Given the description of an element on the screen output the (x, y) to click on. 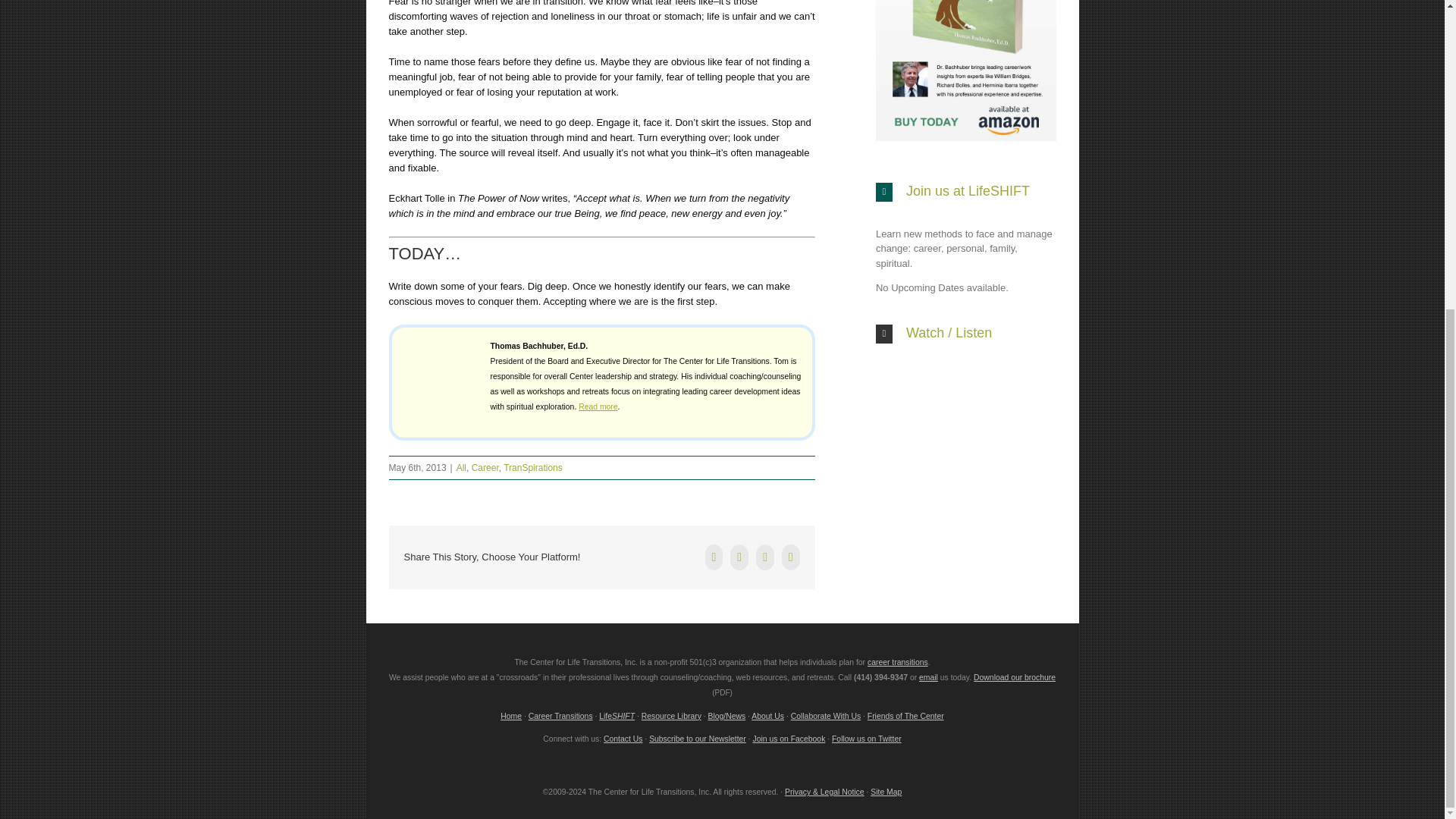
facebook (713, 557)
linkedin (764, 557)
Email (790, 557)
Resource Library (671, 715)
Career Change, Job Change (560, 715)
Blog (726, 715)
Brochure - The Center for Life Transitions, Inc. (1014, 677)
twitter (739, 557)
Career Change, Job Change (897, 662)
